Given the description of an element on the screen output the (x, y) to click on. 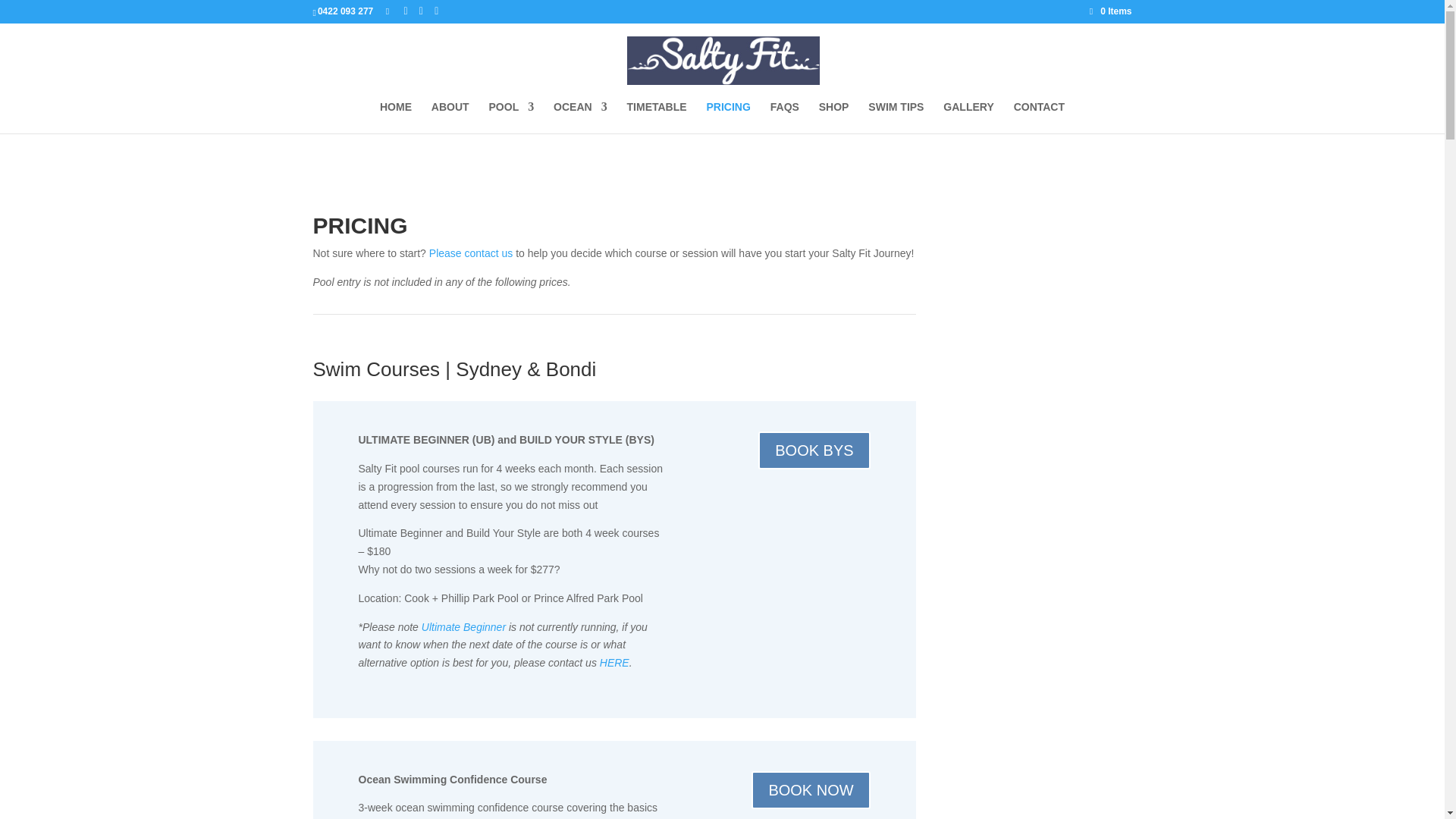
CONTACT (1038, 117)
OCEAN (580, 117)
0 Items (1110, 10)
ABOUT (449, 117)
FAQS (784, 117)
PRICING (728, 117)
HOME (396, 117)
SHOP (833, 117)
TIMETABLE (657, 117)
SWIM TIPS (895, 117)
